Given the description of an element on the screen output the (x, y) to click on. 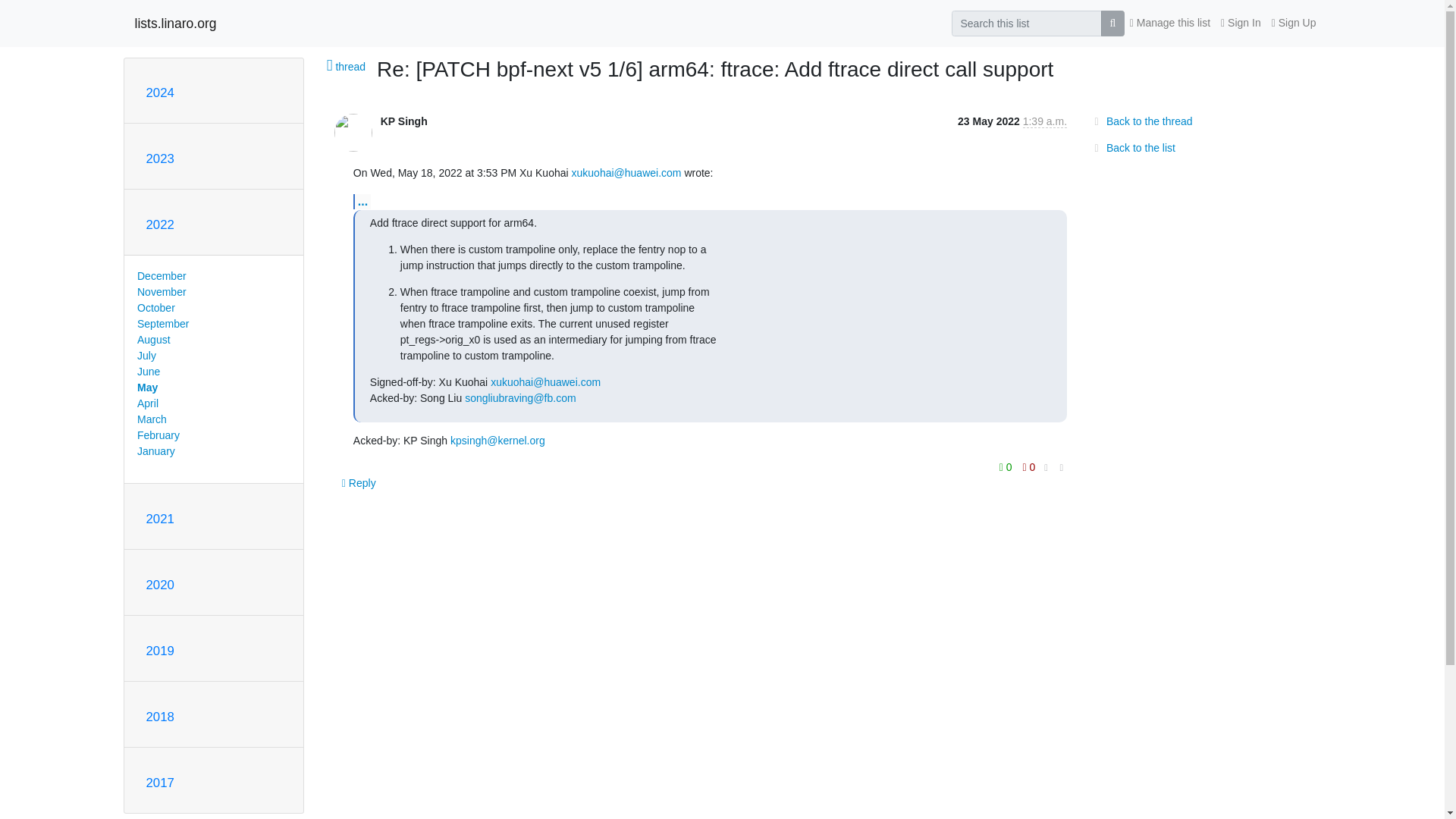
lists.linaro.org (175, 22)
You must be logged-in to vote. (1007, 466)
Sign Up (1294, 22)
Manage this list (1169, 22)
2022 (159, 224)
December (161, 275)
November (161, 291)
September (162, 323)
October (155, 307)
August (153, 339)
